Given the description of an element on the screen output the (x, y) to click on. 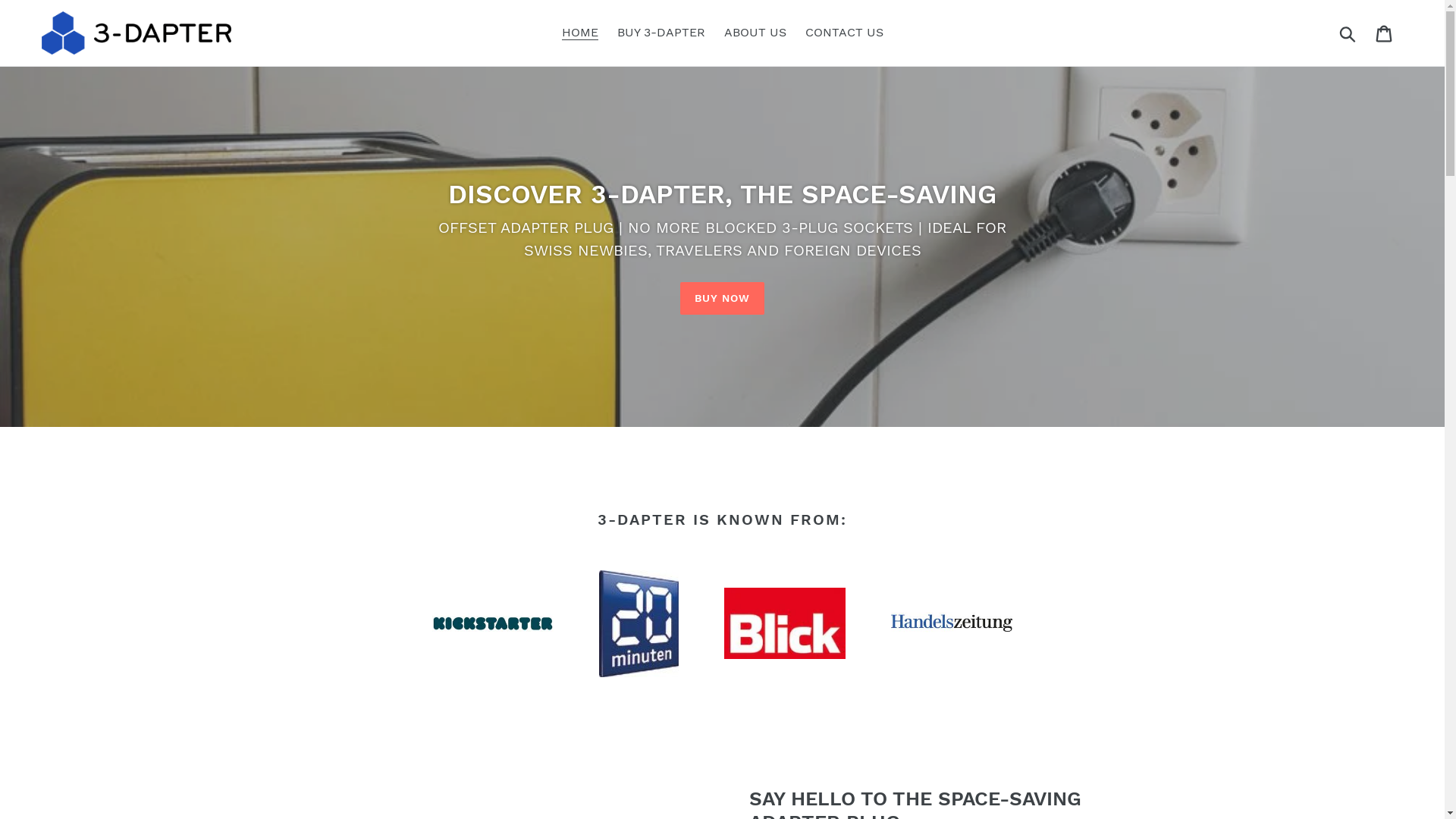
Submit Element type: text (1348, 32)
BUY NOW Element type: text (722, 298)
HOME Element type: text (579, 32)
ABOUT US Element type: text (754, 32)
CONTACT US Element type: text (844, 32)
BUY 3-DAPTER Element type: text (660, 32)
Cart Element type: text (1384, 32)
